Given the description of an element on the screen output the (x, y) to click on. 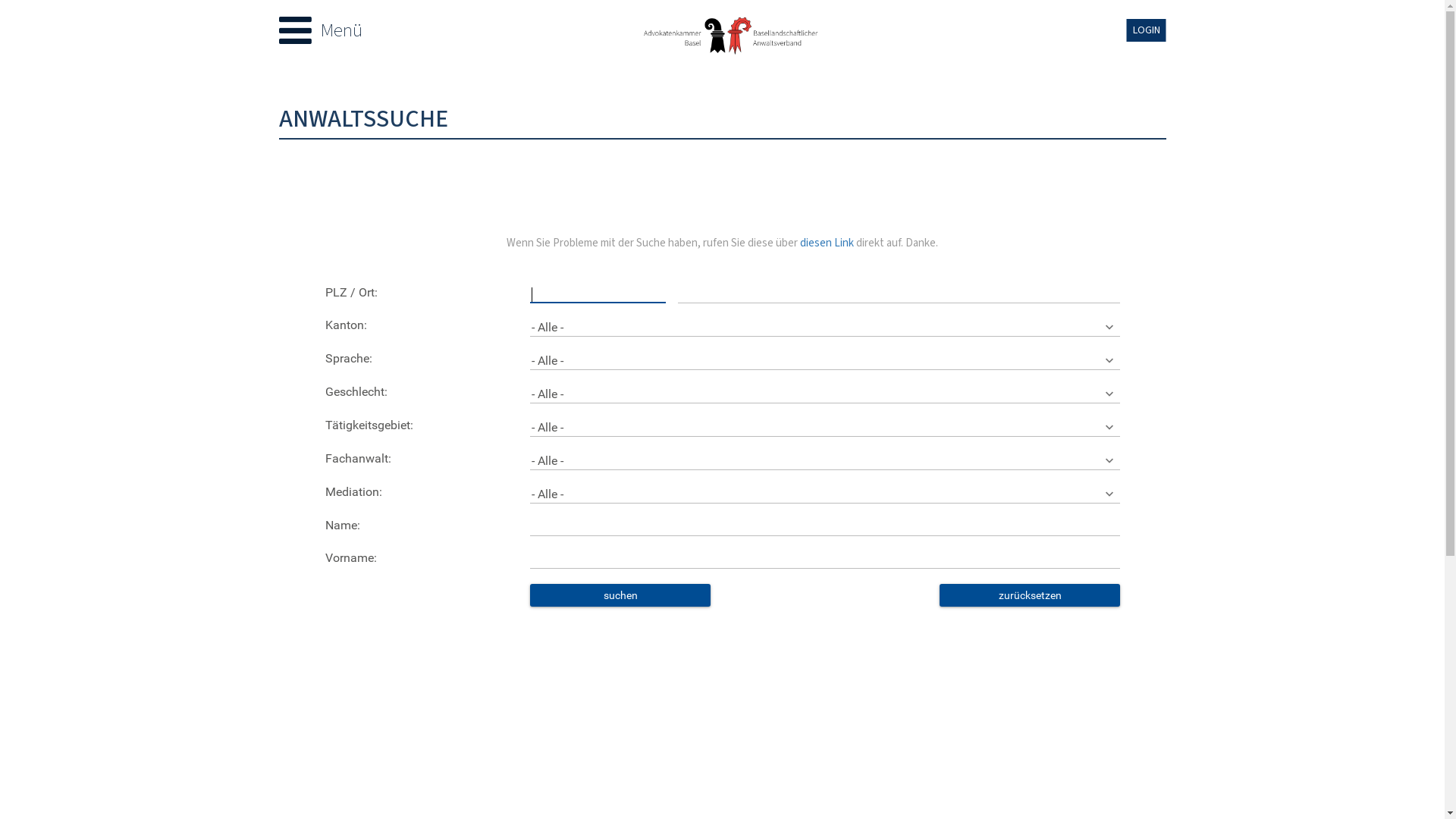
diesen Link Element type: text (826, 243)
LOGIN Element type: text (1146, 29)
